Given the description of an element on the screen output the (x, y) to click on. 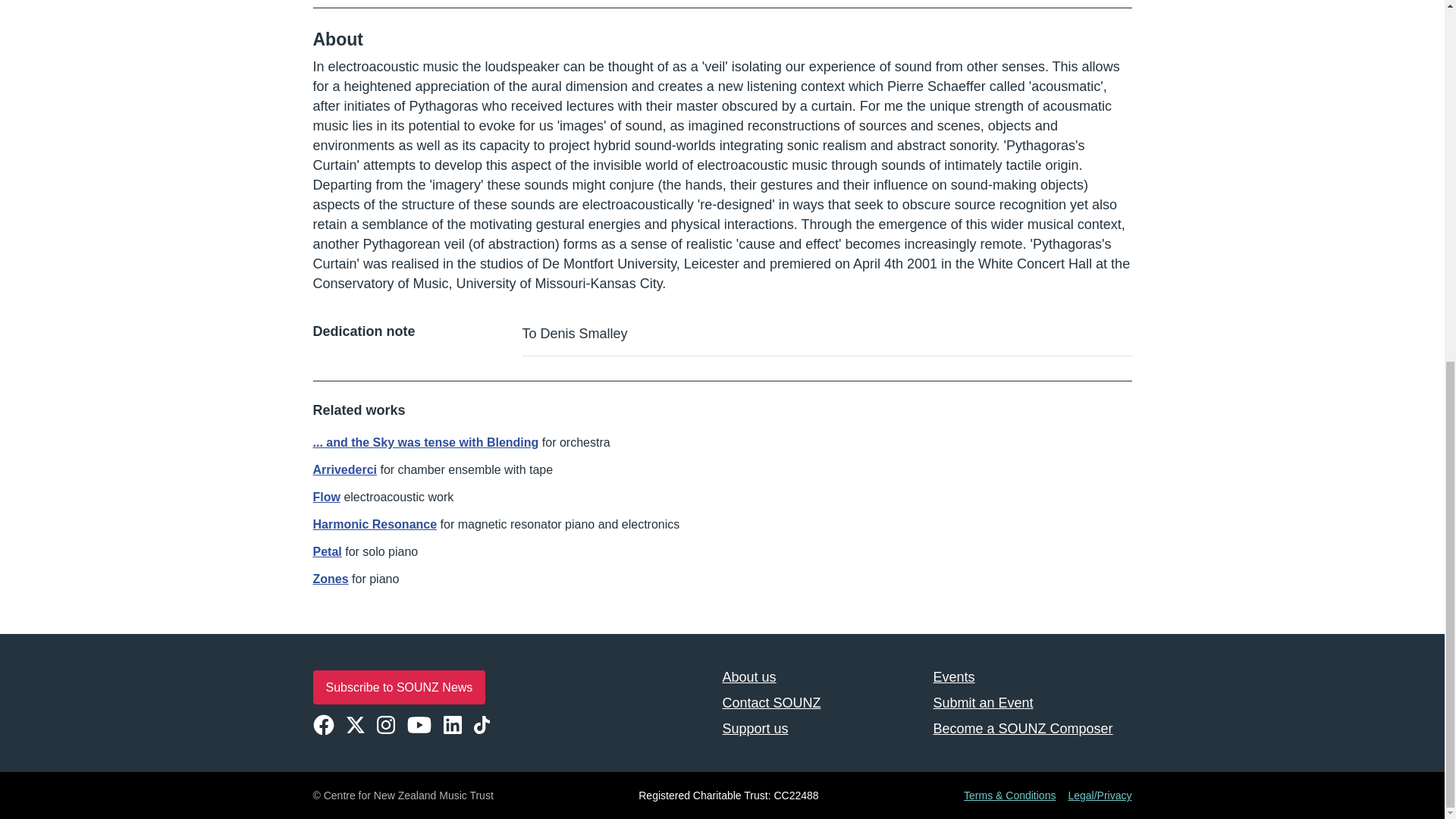
About us (821, 676)
Zones (330, 578)
... and the Sky was tense with Blending (425, 441)
Arrivederci (345, 469)
Subscribe to SOUNZ News (398, 687)
Flow (326, 496)
Harmonic Resonance (374, 523)
Petal (326, 551)
